Given the description of an element on the screen output the (x, y) to click on. 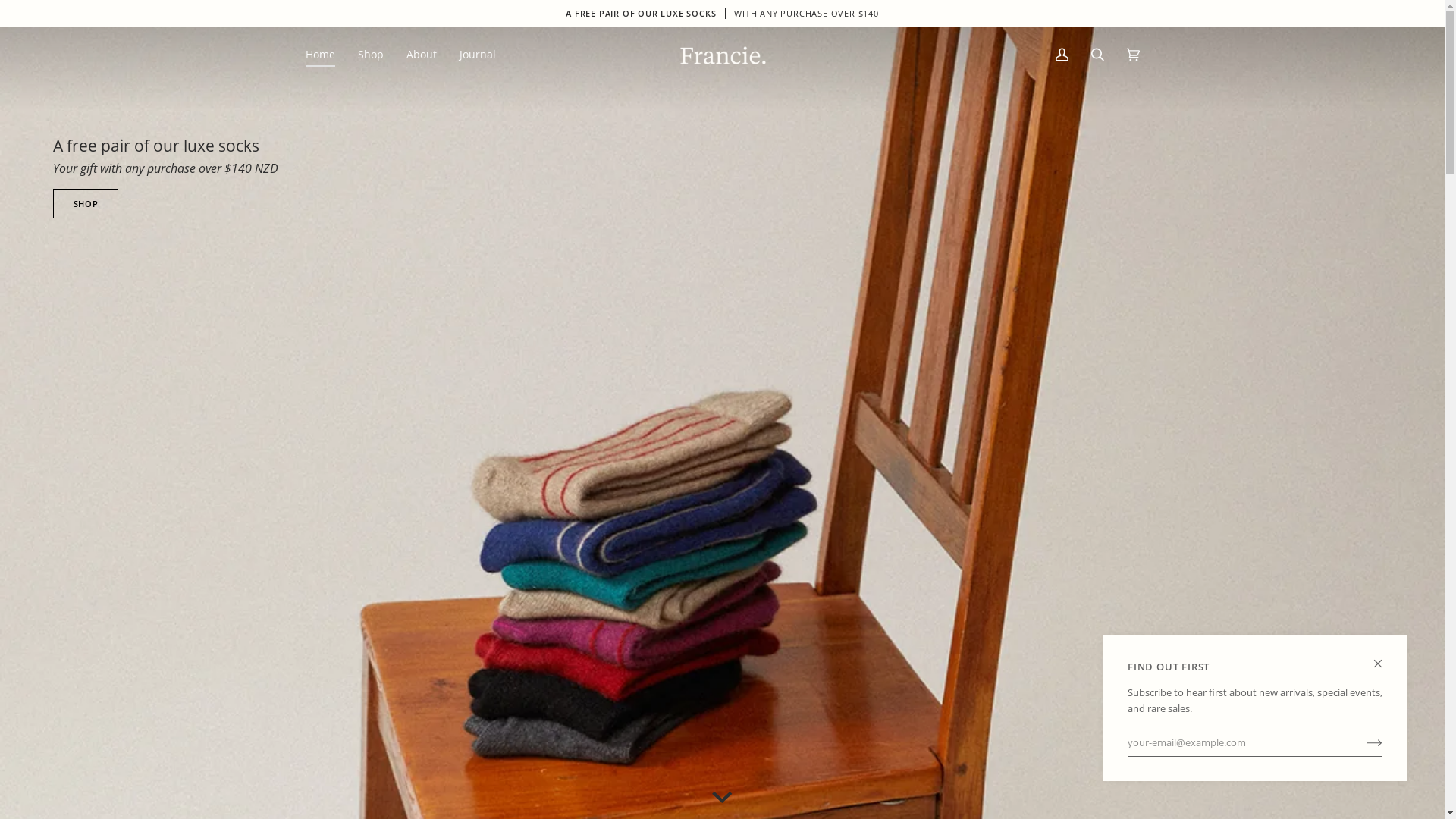
Journal Element type: text (476, 54)
About Element type: text (420, 54)
My Account Element type: text (1061, 54)
Search Element type: text (1097, 54)
Home Element type: text (324, 54)
Shop Element type: text (369, 54)
Close Element type: hover (1383, 656)
SHOP Element type: text (85, 203)
Cart
(0) Element type: text (1130, 54)
